Given the description of an element on the screen output the (x, y) to click on. 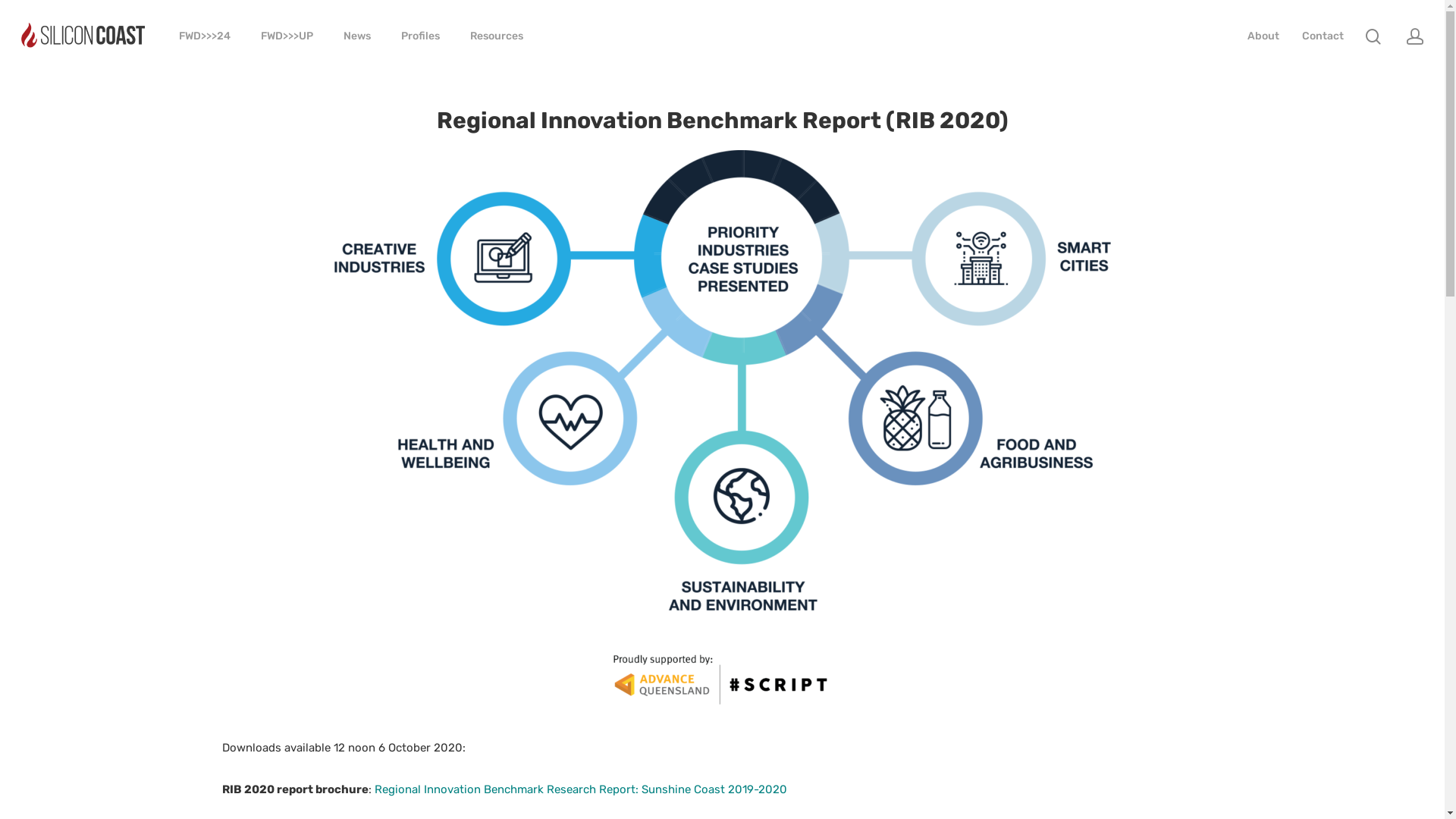
Resources Element type: text (496, 35)
Developed by a team of amazing volunteers. Element type: text (722, 756)
News Element type: text (356, 35)
FWD>>>UP Element type: text (286, 35)
About Element type: text (1263, 35)
Contact Element type: text (1322, 35)
FWD>>>24 Element type: text (204, 35)
Profiles Element type: text (420, 35)
